Given the description of an element on the screen output the (x, y) to click on. 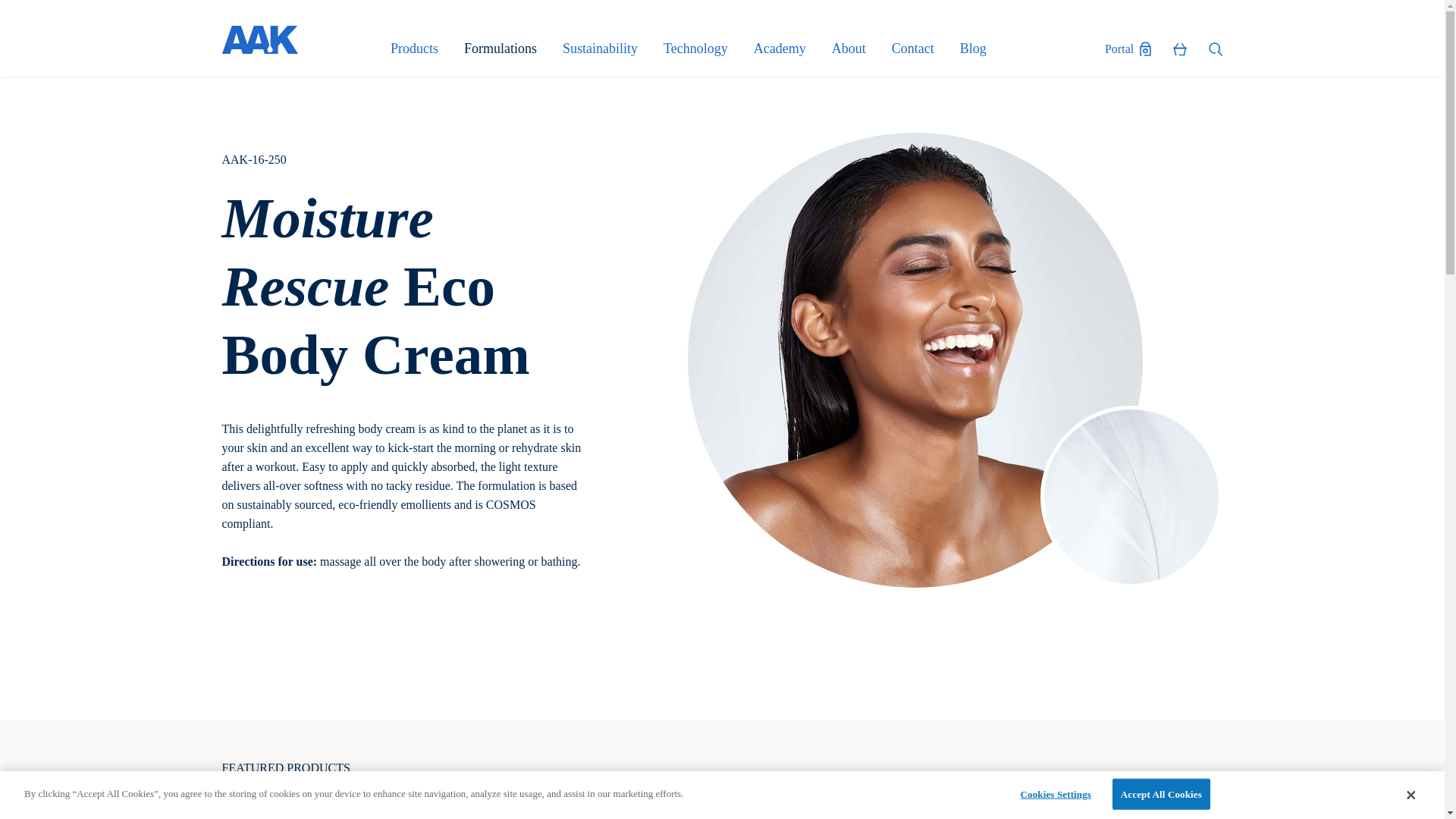
Formulations (511, 48)
Academy (791, 48)
Technology (707, 48)
Contact (923, 48)
About (859, 48)
Products (425, 48)
Portal (1128, 47)
Blog (973, 48)
Sustainability (611, 48)
